Given the description of an element on the screen output the (x, y) to click on. 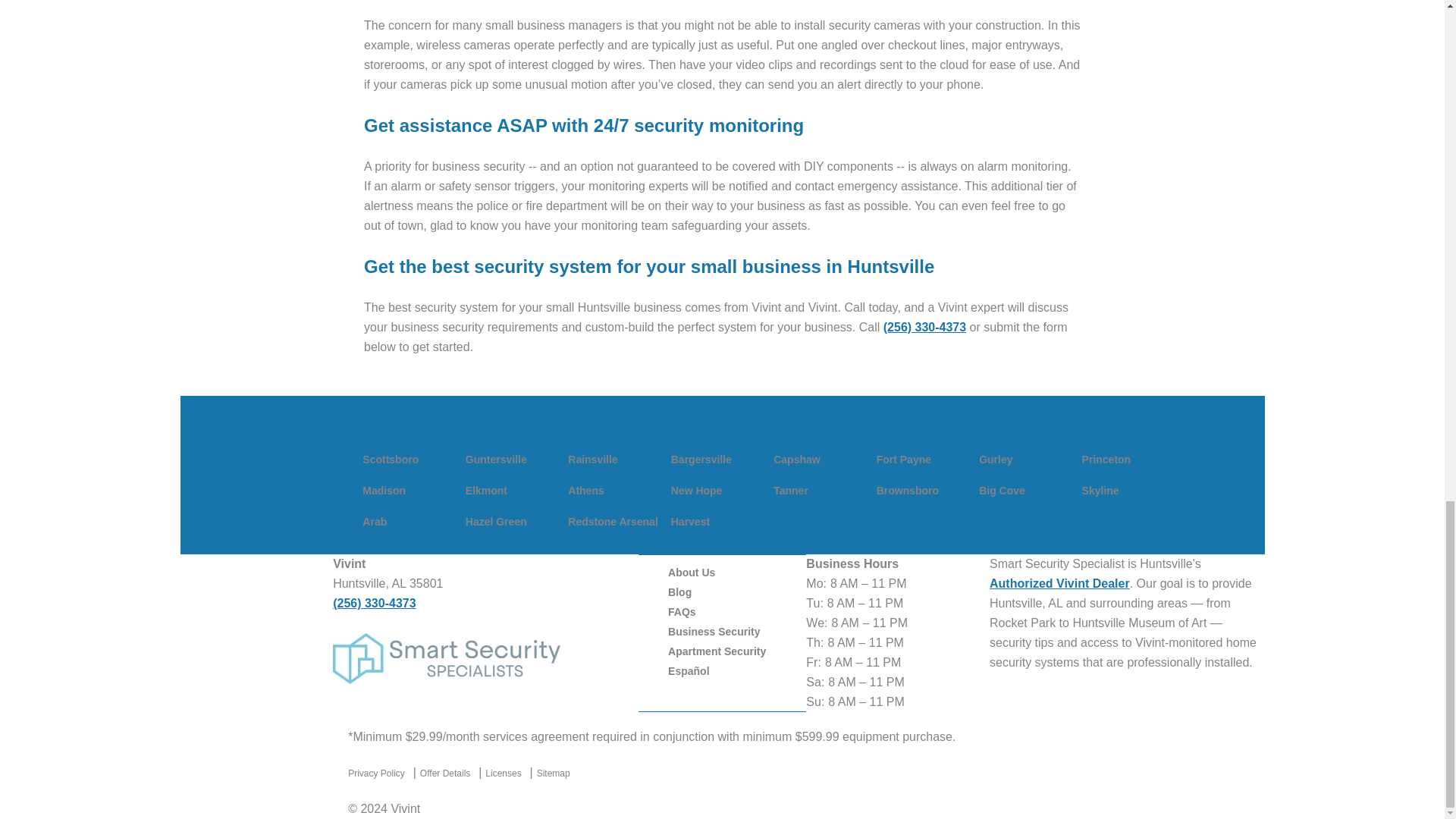
Guntersville (496, 459)
Scottsboro (390, 459)
Rainsville (592, 459)
